Given the description of an element on the screen output the (x, y) to click on. 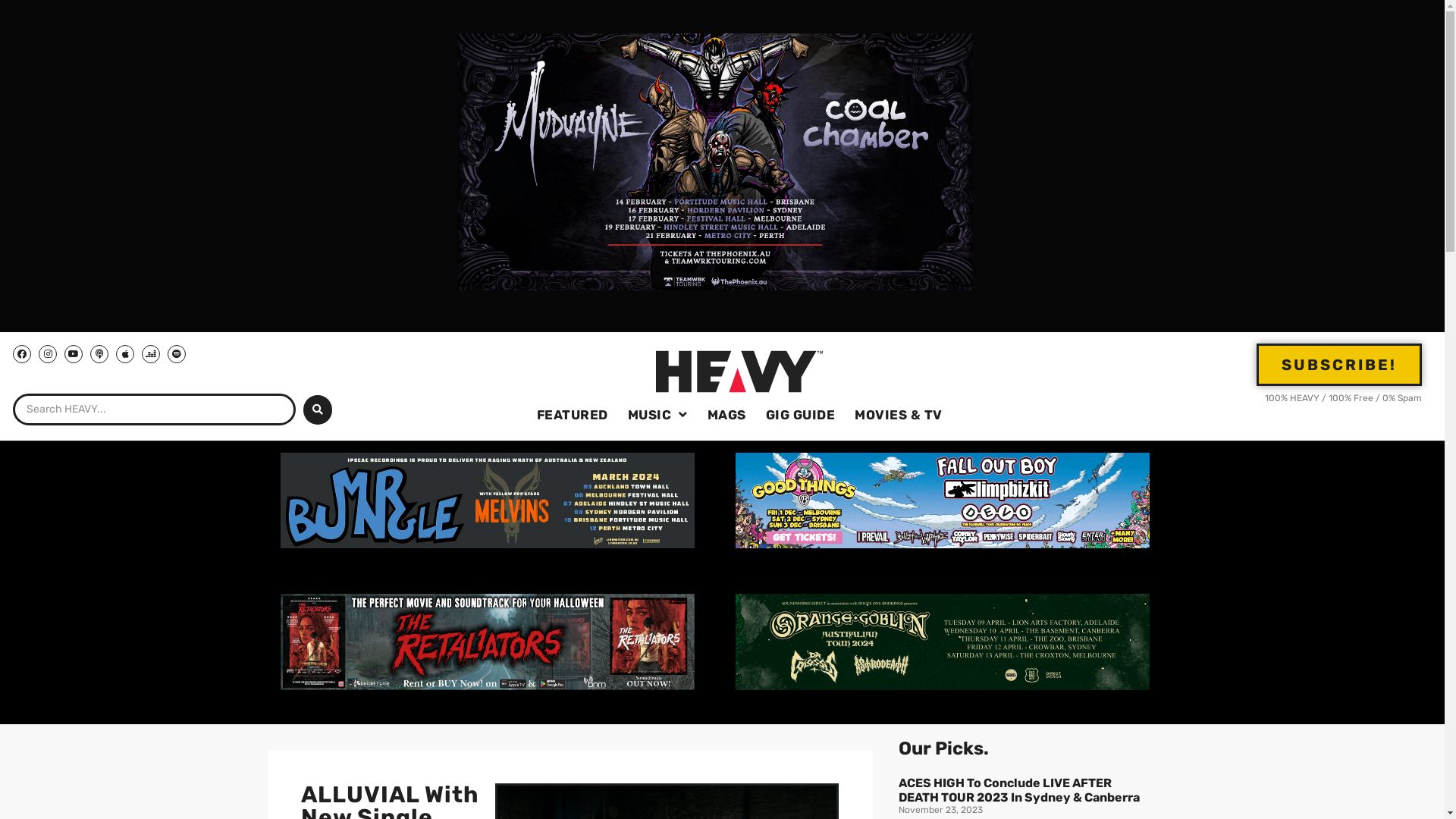
FEATURED Element type: text (572, 414)
MAGS Element type: text (726, 414)
MUSIC Element type: text (657, 414)
SUBSCRIBE! Element type: text (1338, 364)
GIG GUIDE Element type: text (800, 414)
MOVIES & TV Element type: text (898, 414)
